Given the description of an element on the screen output the (x, y) to click on. 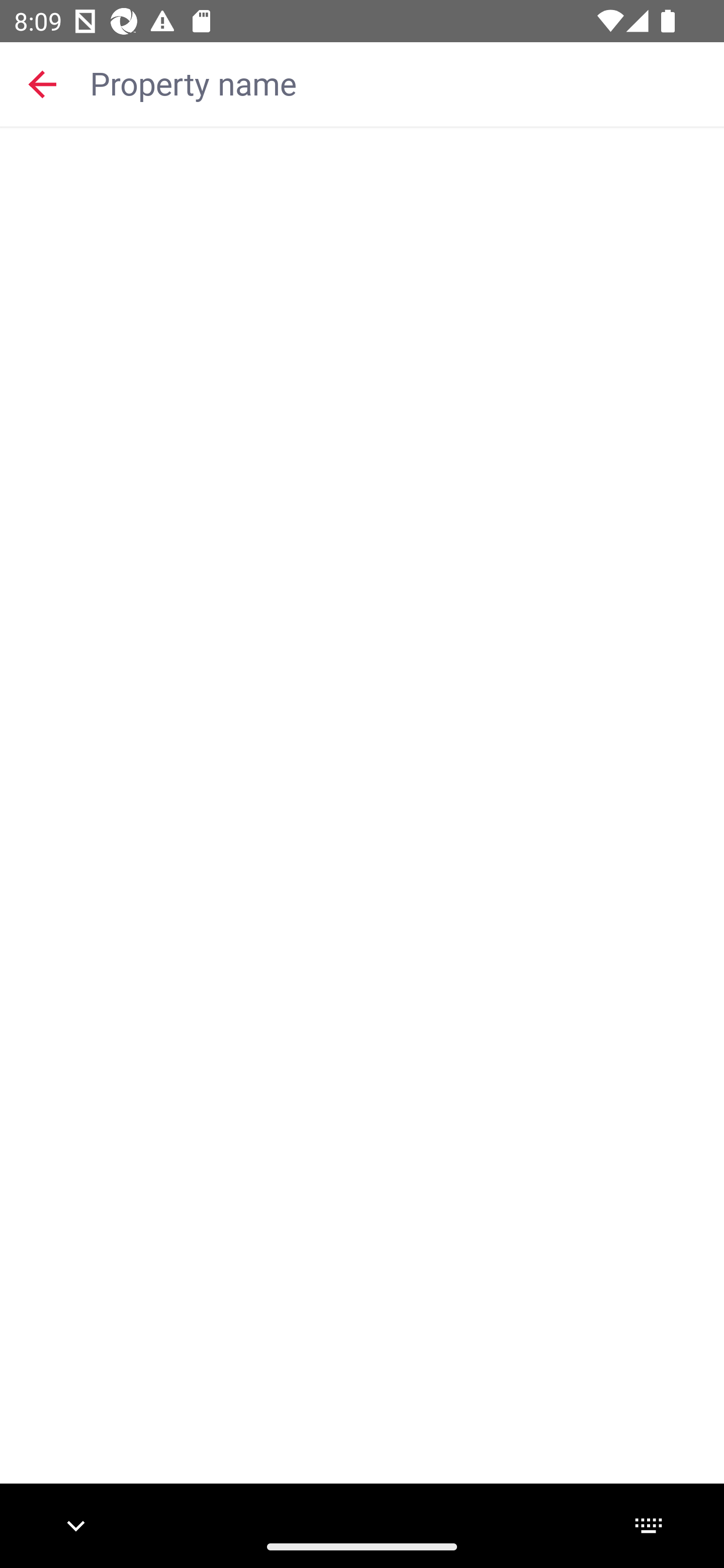
Property name,  (397, 82)
Back to search screen (41, 83)
